Given the description of an element on the screen output the (x, y) to click on. 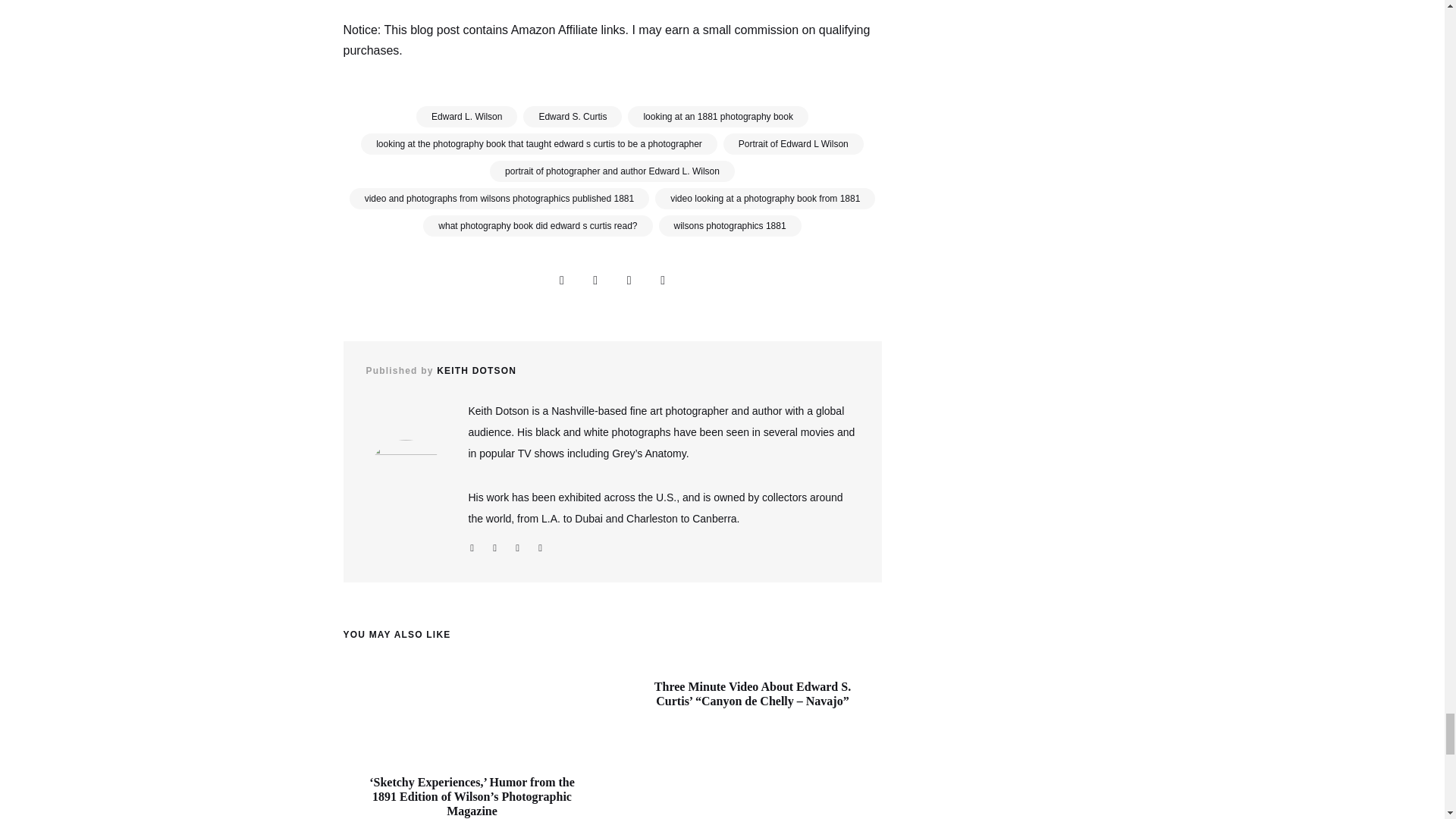
facebook (494, 548)
pinterest (540, 548)
instagram (517, 548)
website (472, 548)
Facebook (594, 280)
Pinterest (662, 280)
Twitter (629, 280)
